Given the description of an element on the screen output the (x, y) to click on. 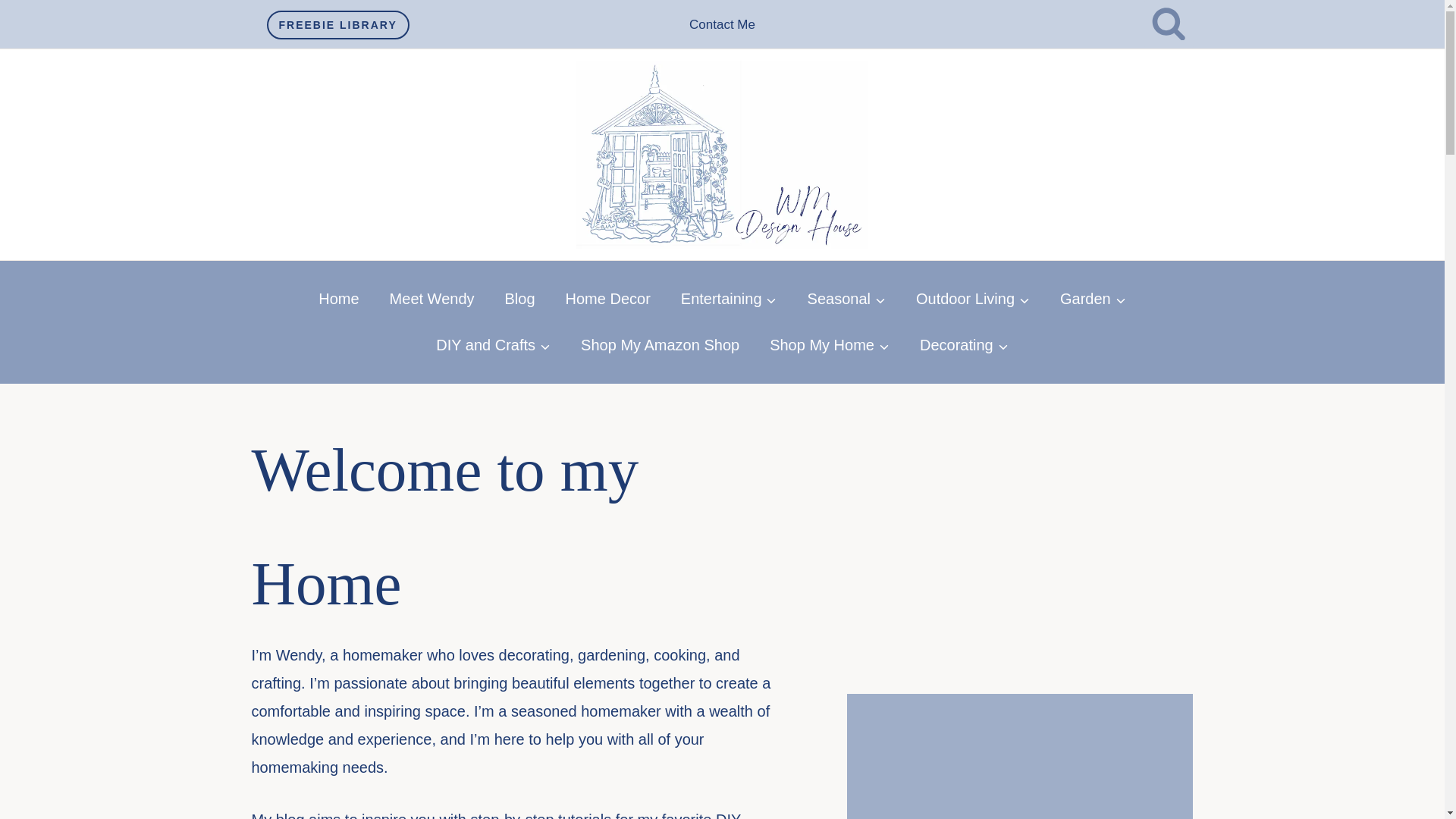
Contact Me (721, 24)
Blog (519, 299)
DIY and Crafts (493, 345)
FREEBIE LIBRARY (337, 24)
Garden (1093, 299)
Meet Wendy (431, 299)
Entertaining (728, 299)
Seasonal (846, 299)
Home (338, 299)
Home Decor (607, 299)
